Given the description of an element on the screen output the (x, y) to click on. 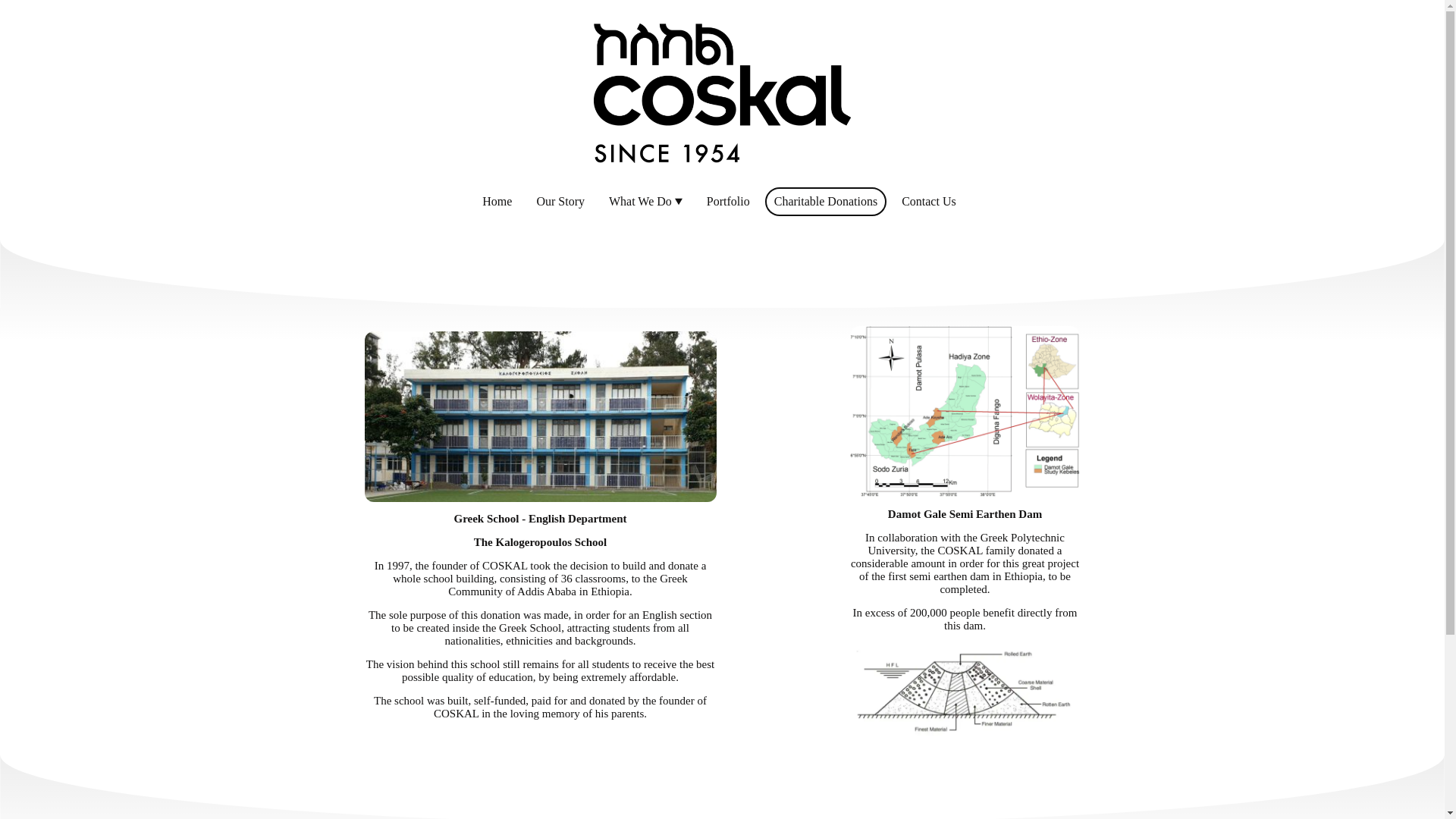
What We Do (645, 201)
Contact Us (928, 201)
Home (496, 201)
Our Story (560, 201)
Portfolio (727, 201)
Charitable Donations (826, 201)
